Given the description of an element on the screen output the (x, y) to click on. 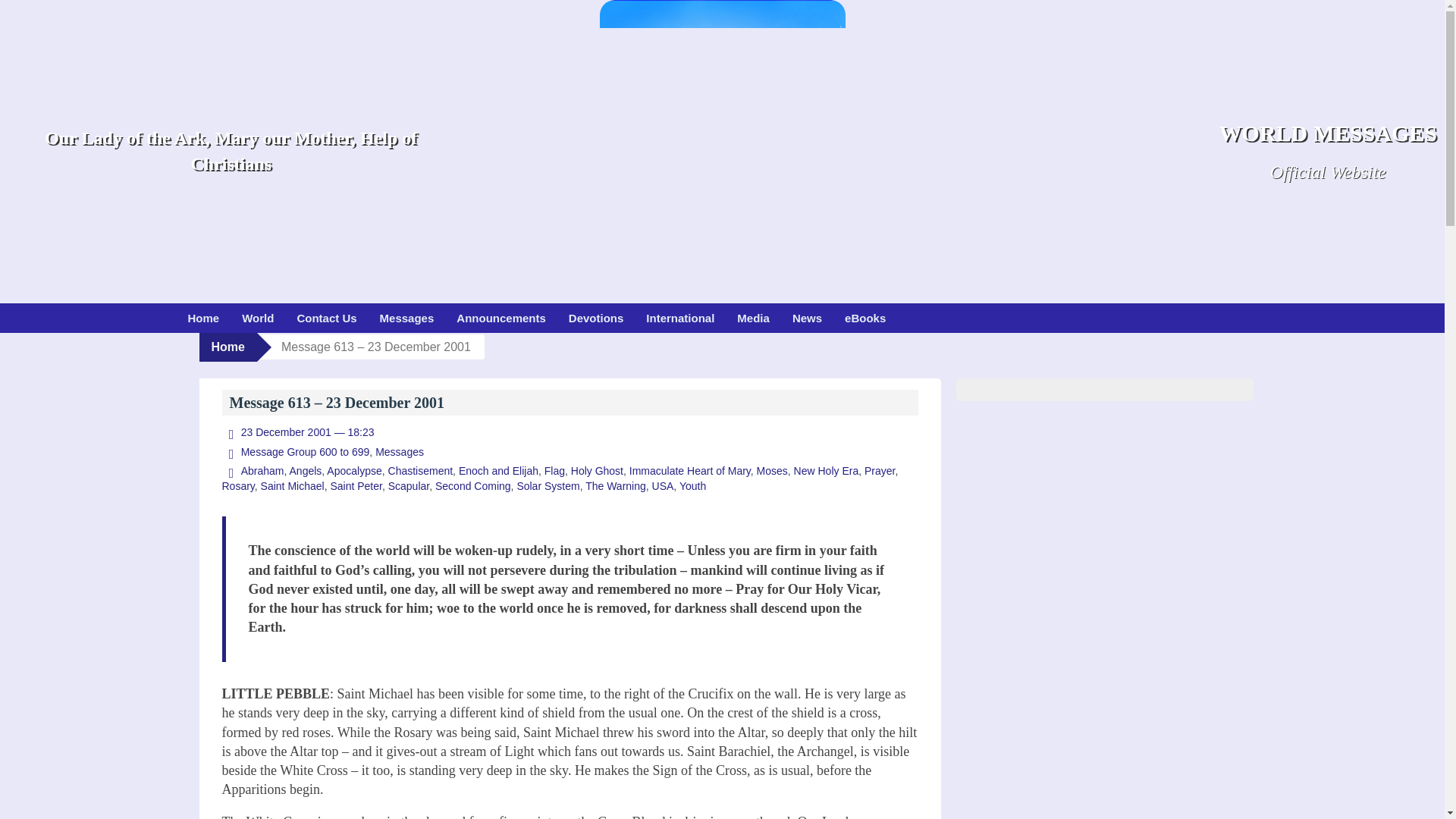
Home (203, 317)
Announcements (501, 317)
Devotions (595, 317)
Media (752, 317)
eBooks (864, 317)
World (257, 317)
News (806, 317)
WORLD MESSAGES (1327, 132)
Messages (399, 451)
Message Group 600 to 699 (295, 451)
